Given the description of an element on the screen output the (x, y) to click on. 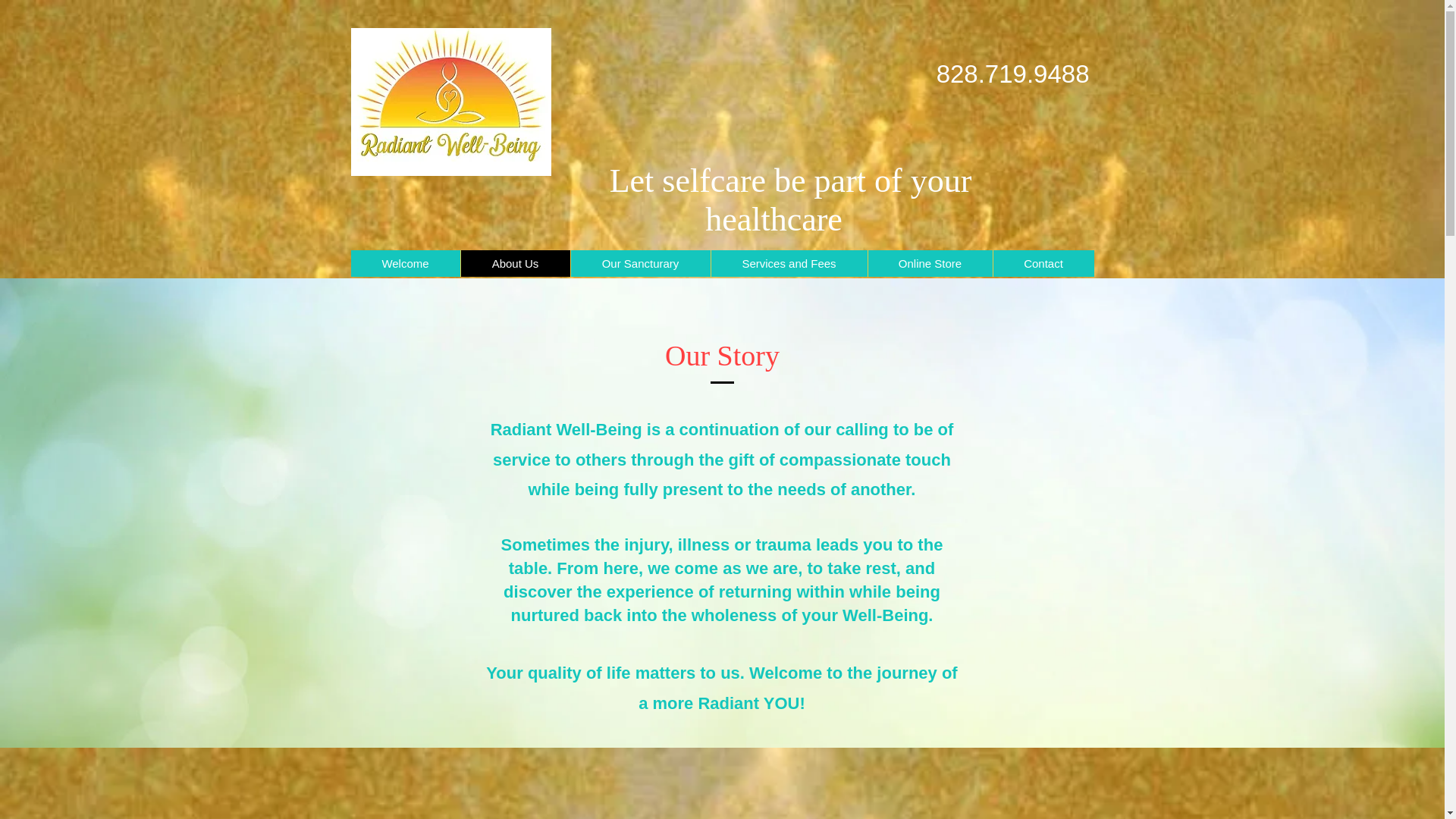
Services and Fees (788, 263)
Our Sancturary (640, 263)
About Us (514, 263)
  Let selfcare be part of your healthcare   (782, 200)
828.719.9488 (1012, 73)
Contact (1042, 263)
Welcome (405, 263)
Online Store (929, 263)
